Given the description of an element on the screen output the (x, y) to click on. 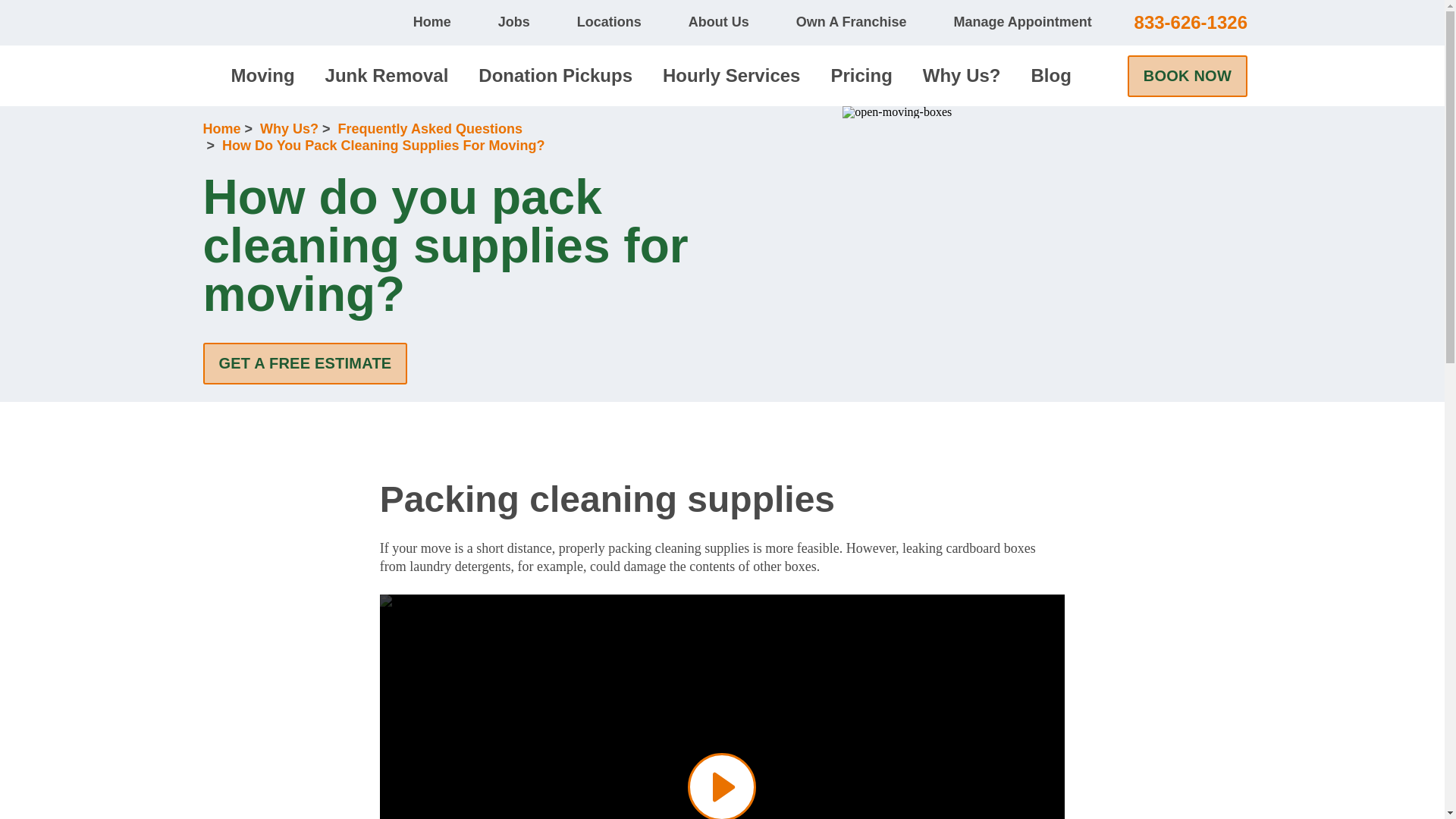
833-626-1326 (1190, 22)
Pricing (860, 75)
Jobs (506, 22)
Junk Removal (386, 75)
Manage Appointment (1015, 22)
Own A Franchise (843, 22)
Moving (263, 75)
About Us (710, 22)
Locations (602, 22)
Home (424, 22)
Donation Pickups (555, 75)
Hourly Services (730, 75)
